Given the description of an element on the screen output the (x, y) to click on. 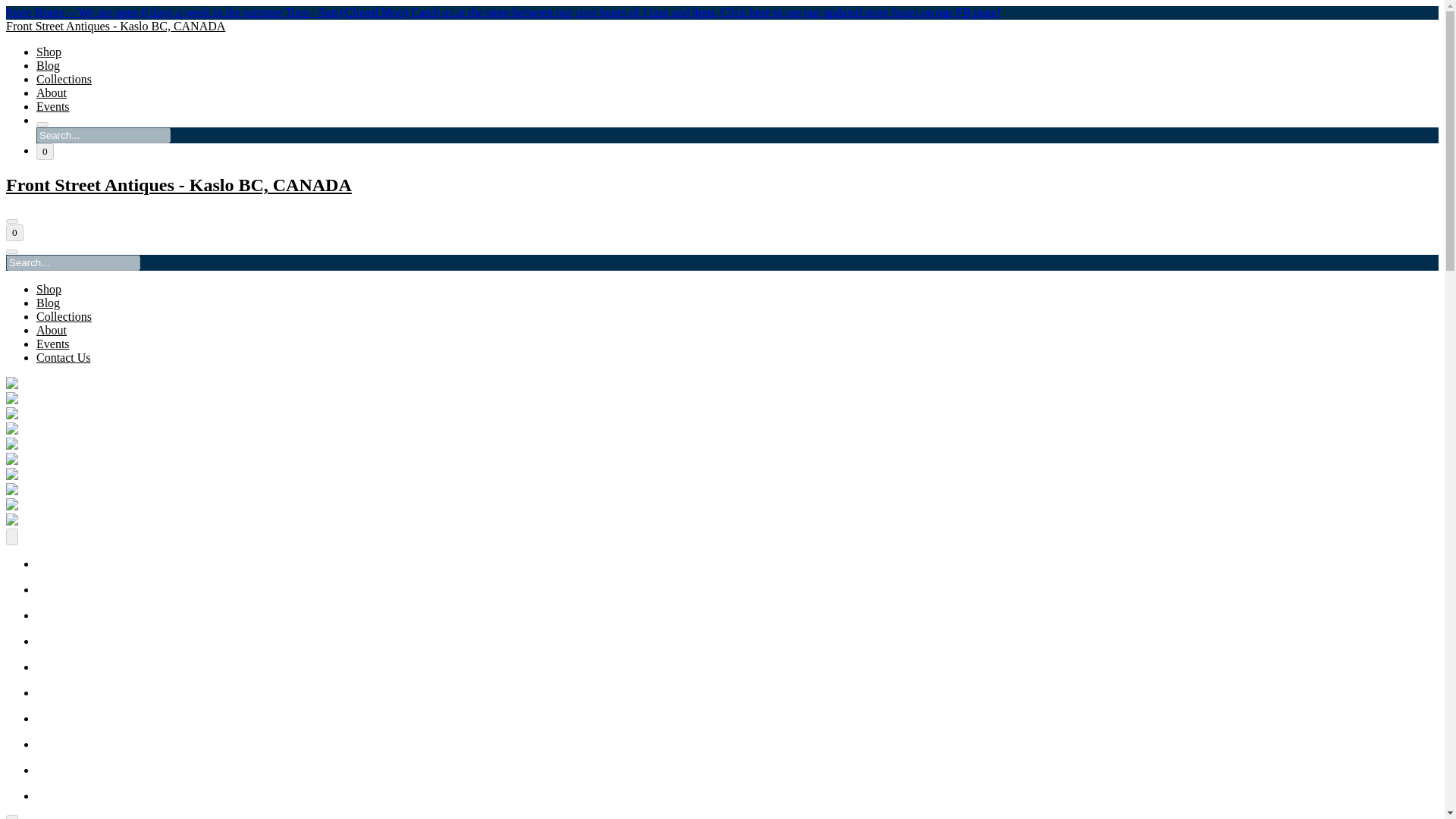
Blog (47, 302)
Shop (48, 51)
Shop (48, 288)
About (51, 329)
Collections (63, 316)
About (51, 92)
Collections (63, 78)
Events (52, 343)
0 (44, 151)
0 (14, 232)
Blog (47, 65)
Events (52, 106)
Contact Us (63, 357)
